Given the description of an element on the screen output the (x, y) to click on. 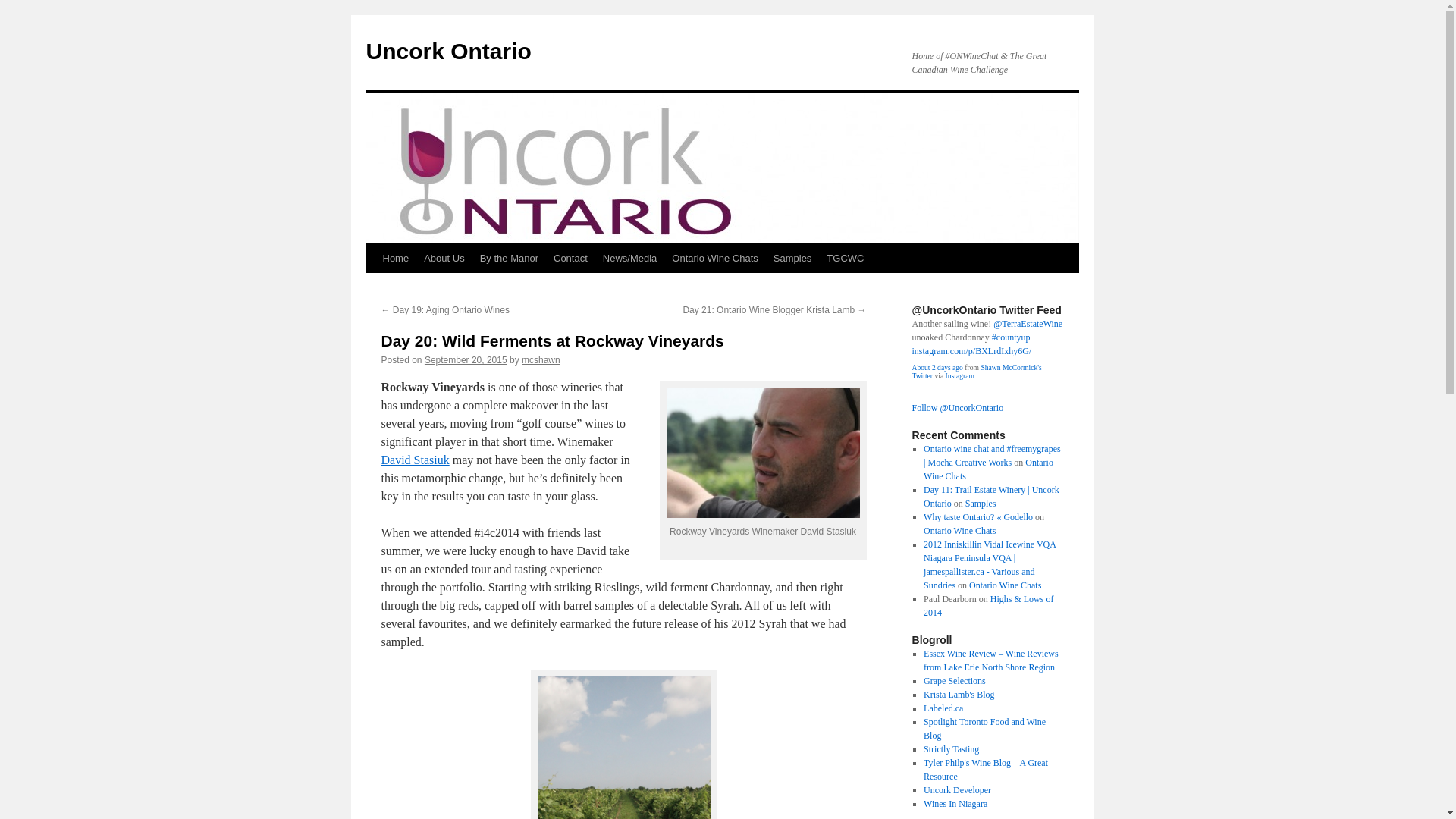
8:24 am (465, 359)
Uncork Ontario (448, 50)
About Us (443, 258)
Shawn McCormick (976, 371)
Terra Estate Winery (1027, 323)
mcshawn (540, 359)
Samples (792, 258)
Ontario Wine Chats (714, 258)
Home (395, 258)
View all posts by mcshawn (540, 359)
David Stasiuk (414, 459)
By the Manor (508, 258)
Contact (570, 258)
September 20, 2015 (465, 359)
TGCWC (844, 258)
